Given the description of an element on the screen output the (x, y) to click on. 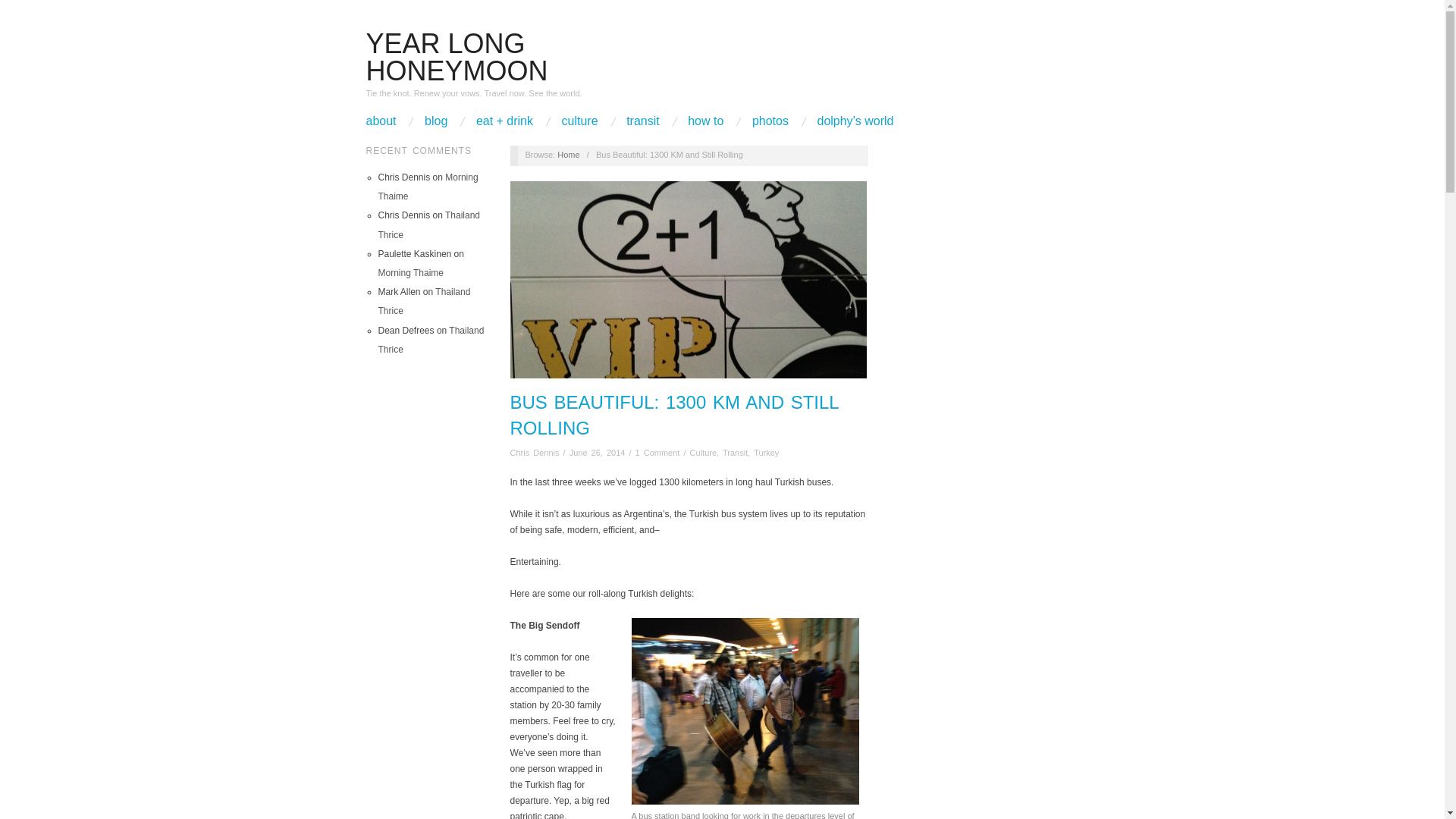
blog (435, 121)
June 26, 2014 (597, 452)
1 Comment (656, 452)
Thailand Thrice (430, 339)
Year Long Honeymoon (568, 153)
Morning Thaime (427, 186)
Posts by Chris Dennis (535, 452)
Culture (703, 452)
Year Long Honeymoon (456, 56)
YEAR LONG HONEYMOON (456, 56)
transit (642, 121)
Thailand Thrice (428, 224)
Turkey (766, 452)
Thailand Thrice (423, 301)
photos (770, 121)
